Given the description of an element on the screen output the (x, y) to click on. 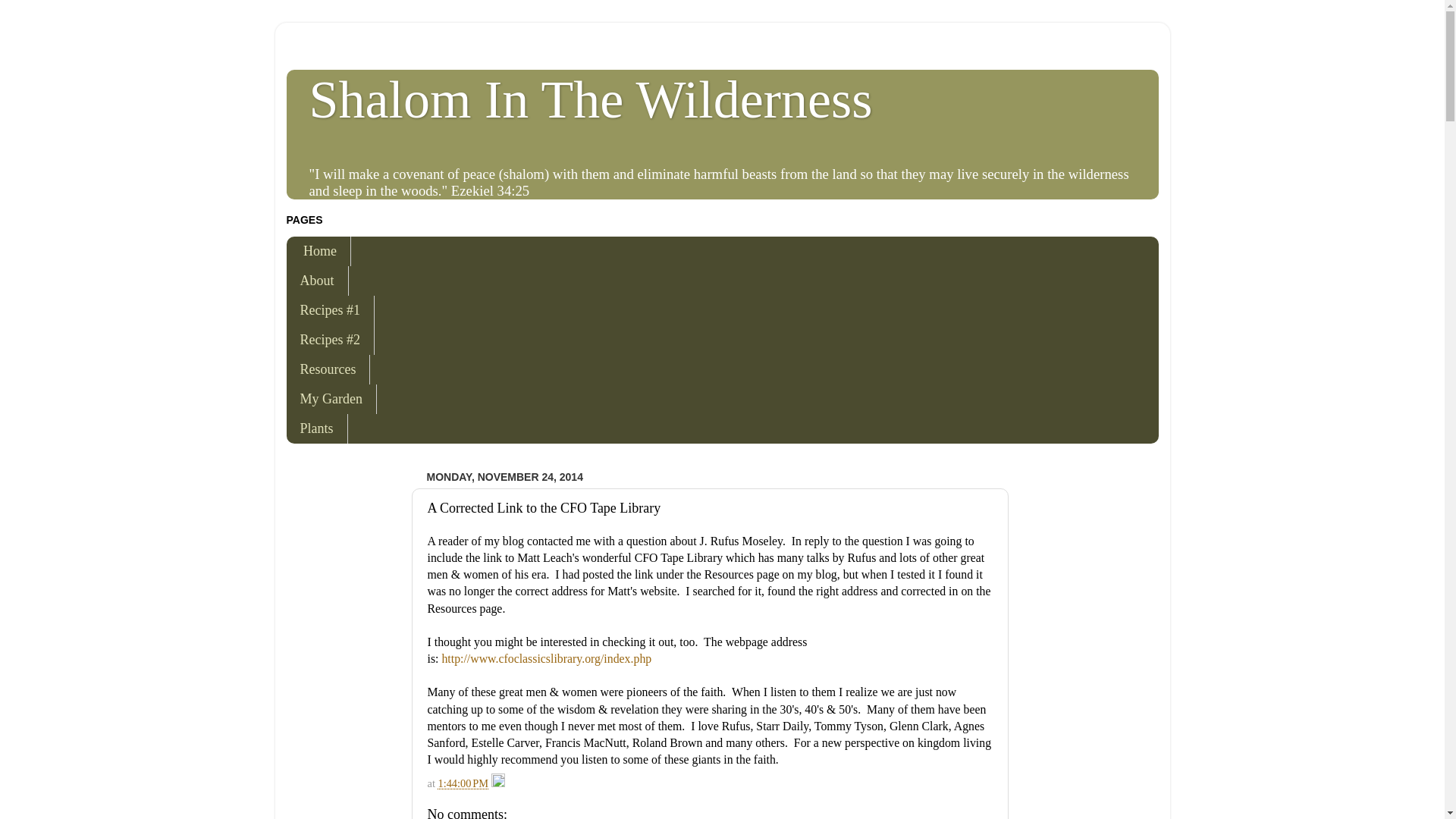
About (317, 280)
Edit Post (498, 783)
Home (319, 251)
permanent link (462, 783)
Resources (328, 369)
My Garden (331, 399)
Shalom In The Wilderness (590, 99)
Plants (316, 428)
